Given the description of an element on the screen output the (x, y) to click on. 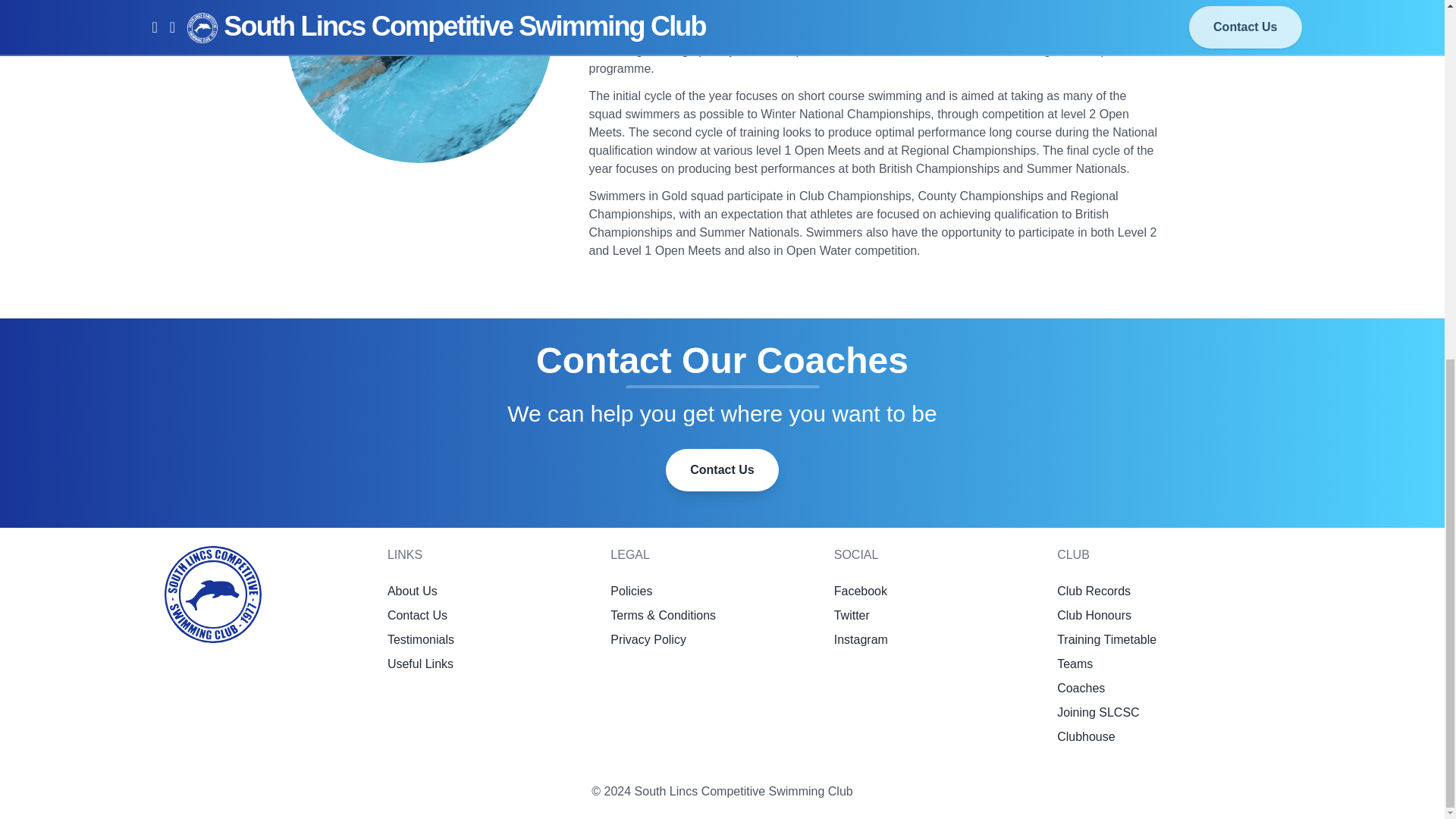
Contact Us (721, 469)
Privacy Policy (647, 639)
Coaches (1081, 687)
Club Honours (1094, 615)
Joining SLCSC (1098, 712)
Instagram (861, 639)
Twitter (851, 615)
Useful Links (419, 663)
Training Timetable (1106, 639)
About Us (412, 590)
Facebook (860, 590)
Teams (1075, 663)
Clubhouse (1086, 736)
Contact Us (416, 615)
Policies (631, 590)
